Given the description of an element on the screen output the (x, y) to click on. 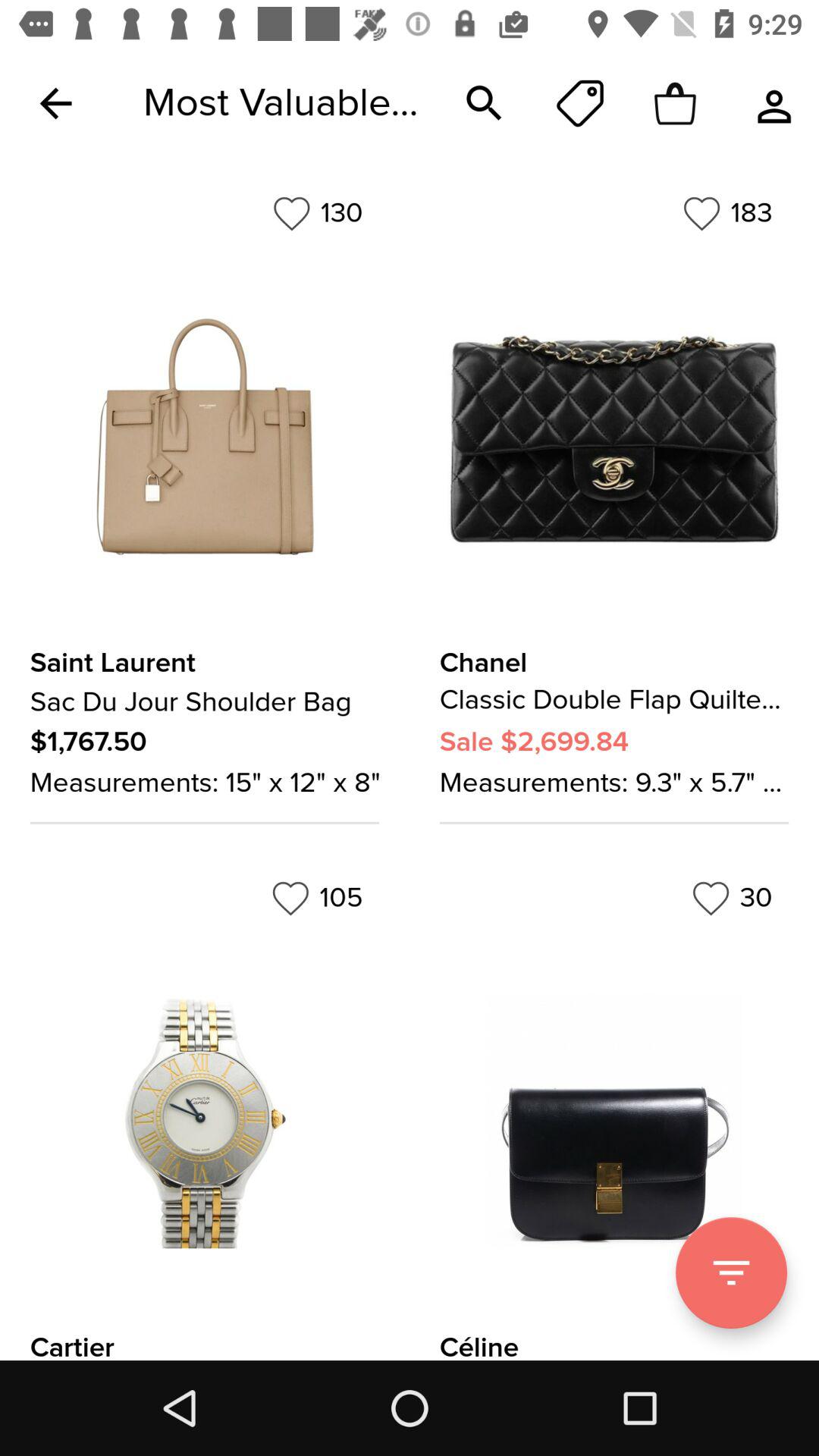
go back (55, 103)
